Given the description of an element on the screen output the (x, y) to click on. 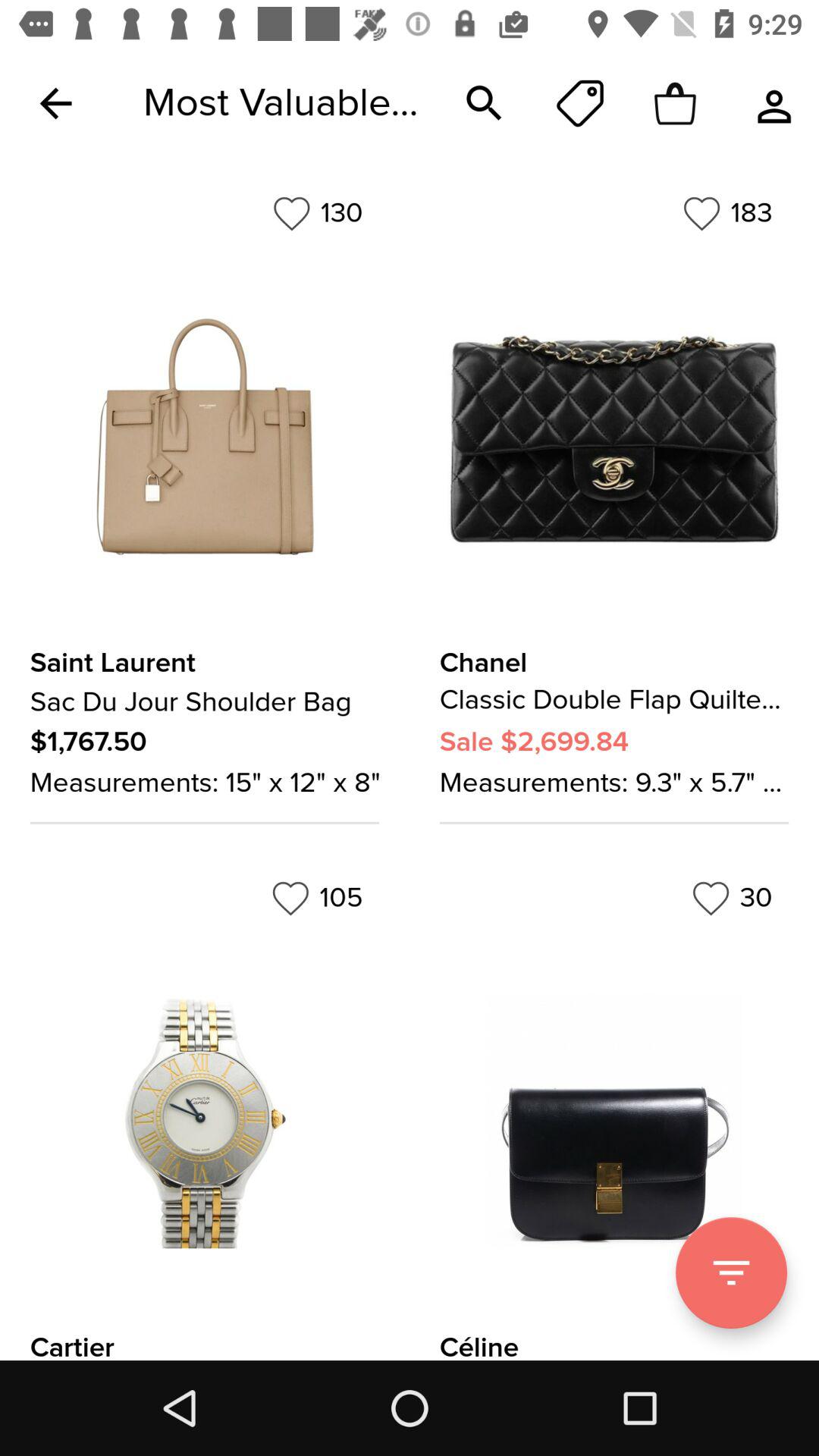
go back (55, 103)
